Given the description of an element on the screen output the (x, y) to click on. 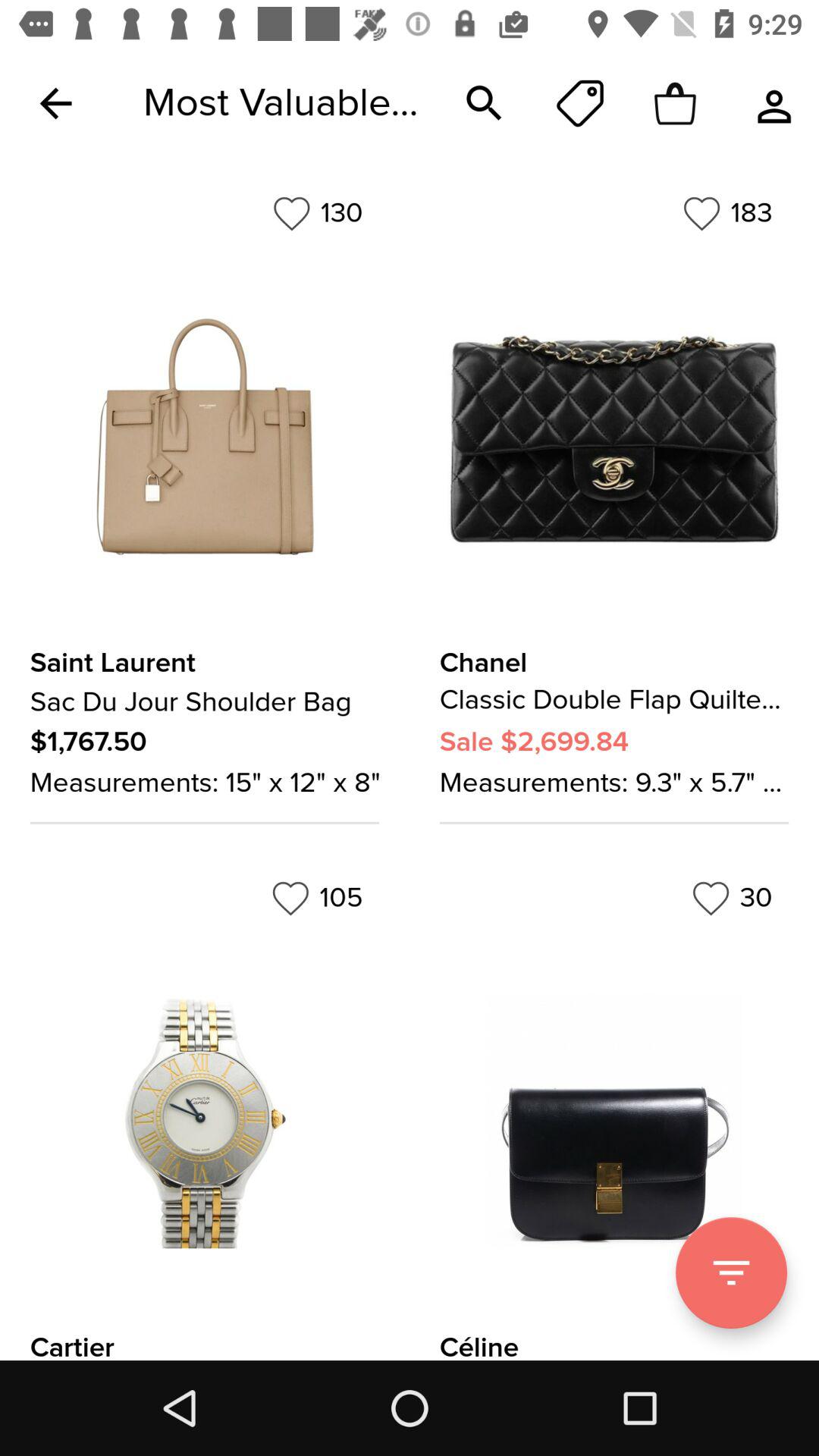
go back (55, 103)
